Given the description of an element on the screen output the (x, y) to click on. 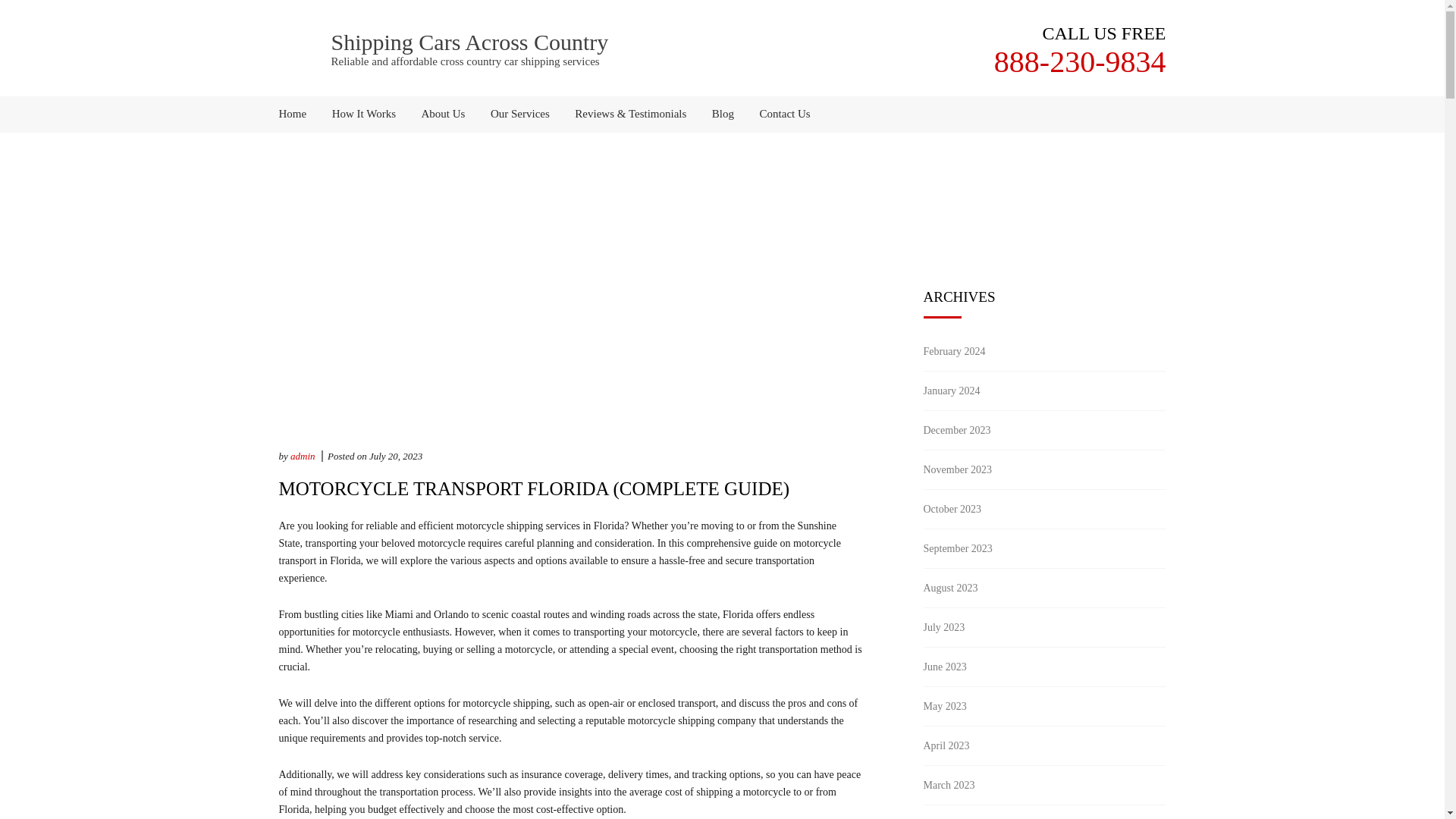
Blog (722, 114)
Posts by admin (302, 455)
Contact Us (779, 114)
About Us (443, 114)
How It Works (363, 114)
Our Services (519, 114)
Shipping Cars Across Country (469, 42)
Home (298, 114)
admin (302, 455)
888-230-9834 (1080, 61)
